Given the description of an element on the screen output the (x, y) to click on. 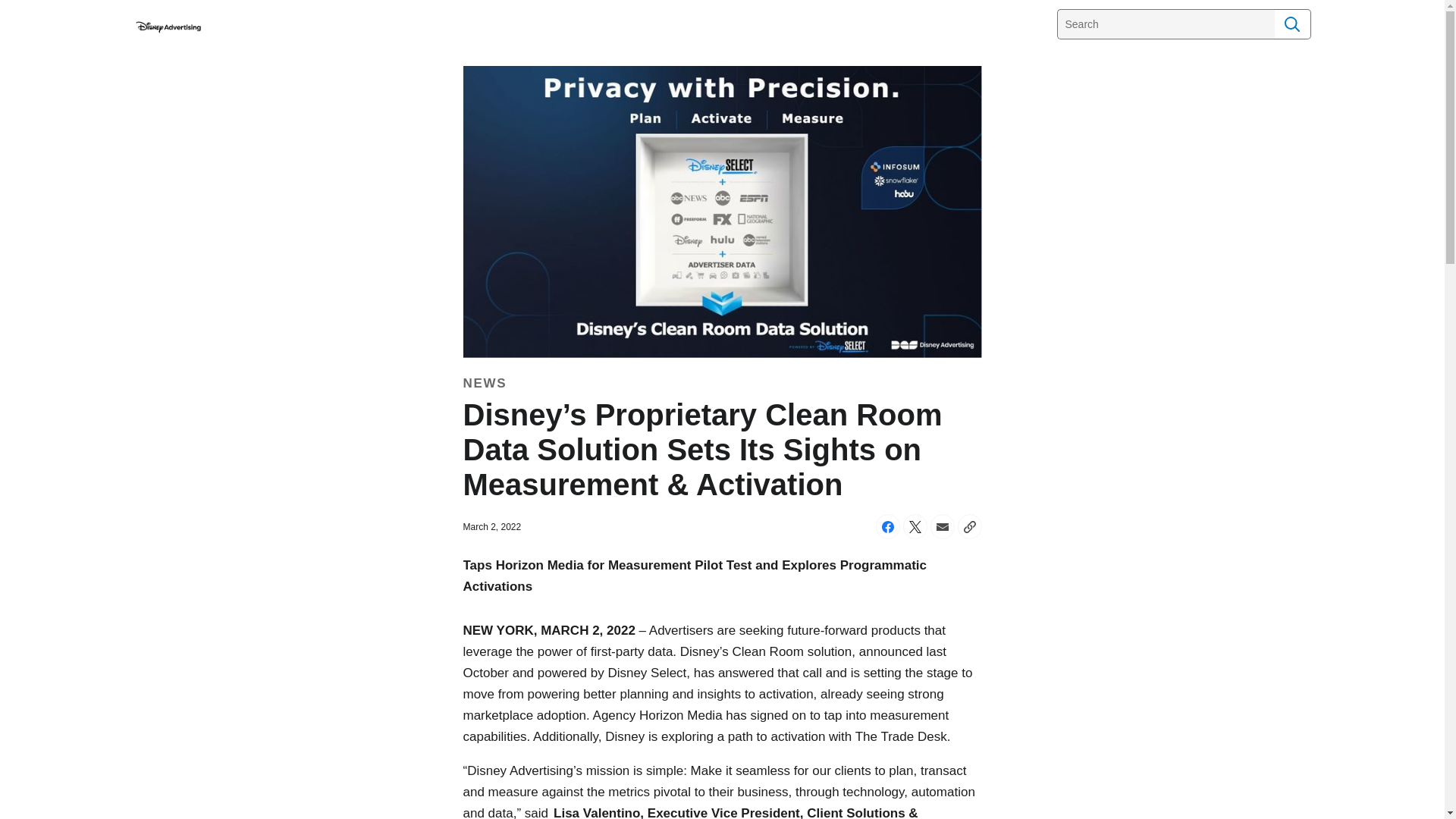
Search (1292, 24)
